Given the description of an element on the screen output the (x, y) to click on. 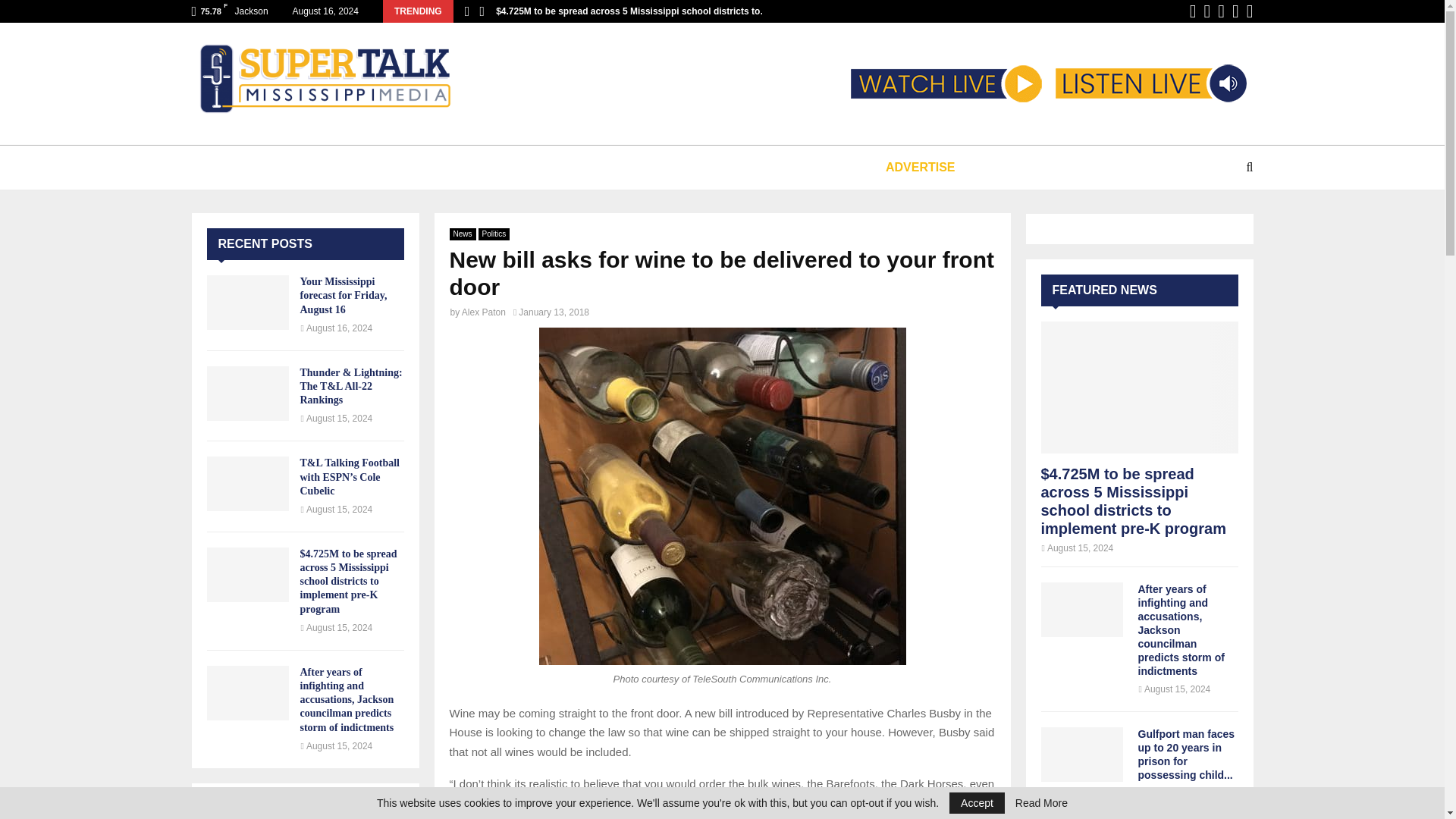
TUNE IN (255, 167)
Your Mississippi forecast for Friday, August 16 (247, 302)
STATIONS (345, 167)
 Your Mississippi forecast for Friday, August 16  (343, 295)
